Given the description of an element on the screen output the (x, y) to click on. 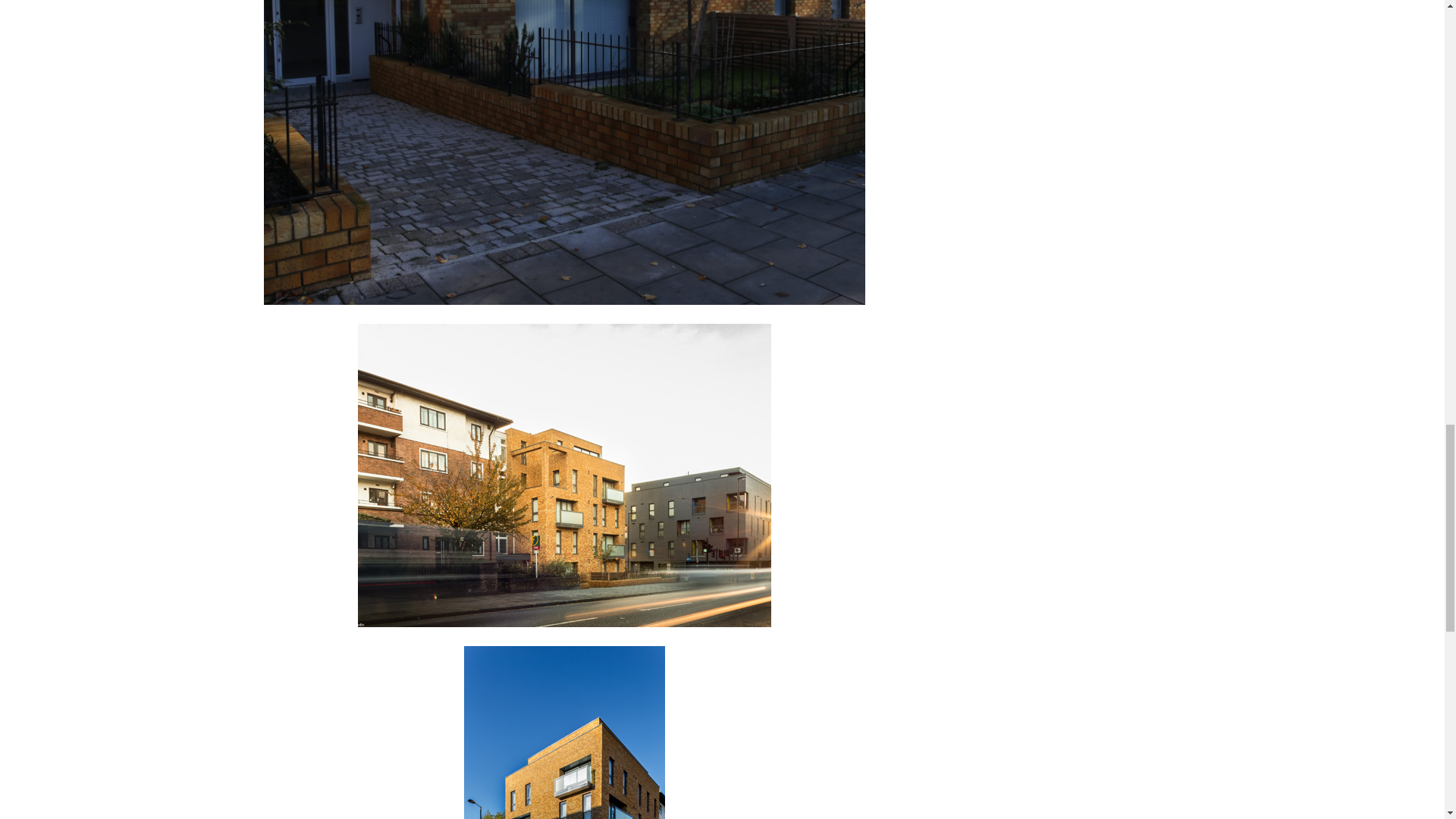
project4-image917 (564, 475)
project4-image920 (564, 732)
